Given the description of an element on the screen output the (x, y) to click on. 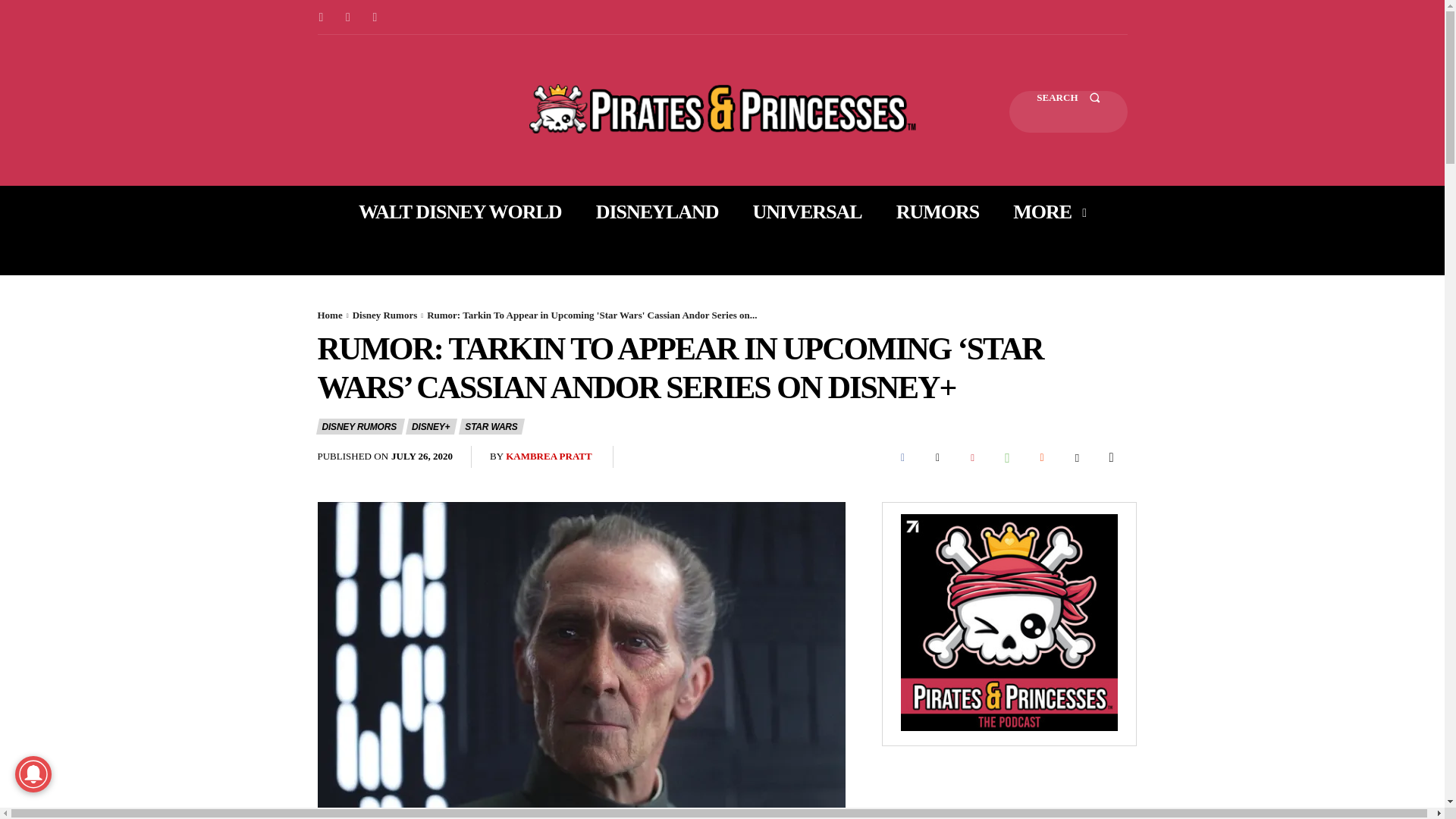
Home (329, 315)
Instagram (347, 17)
View all posts in Disney Rumors (384, 315)
Disney Rumors (384, 315)
Twitter (936, 457)
UNIVERSAL (806, 212)
Pirates-And-Princesses-Logo-2024 (722, 109)
KAMBREA PRATT (548, 456)
WALT DISNEY WORLD (460, 212)
Pinterest (971, 457)
DISNEY RUMORS (360, 426)
Twitter (375, 17)
Facebook (320, 17)
Facebook (901, 457)
DISNEYLAND (657, 212)
